Given the description of an element on the screen output the (x, y) to click on. 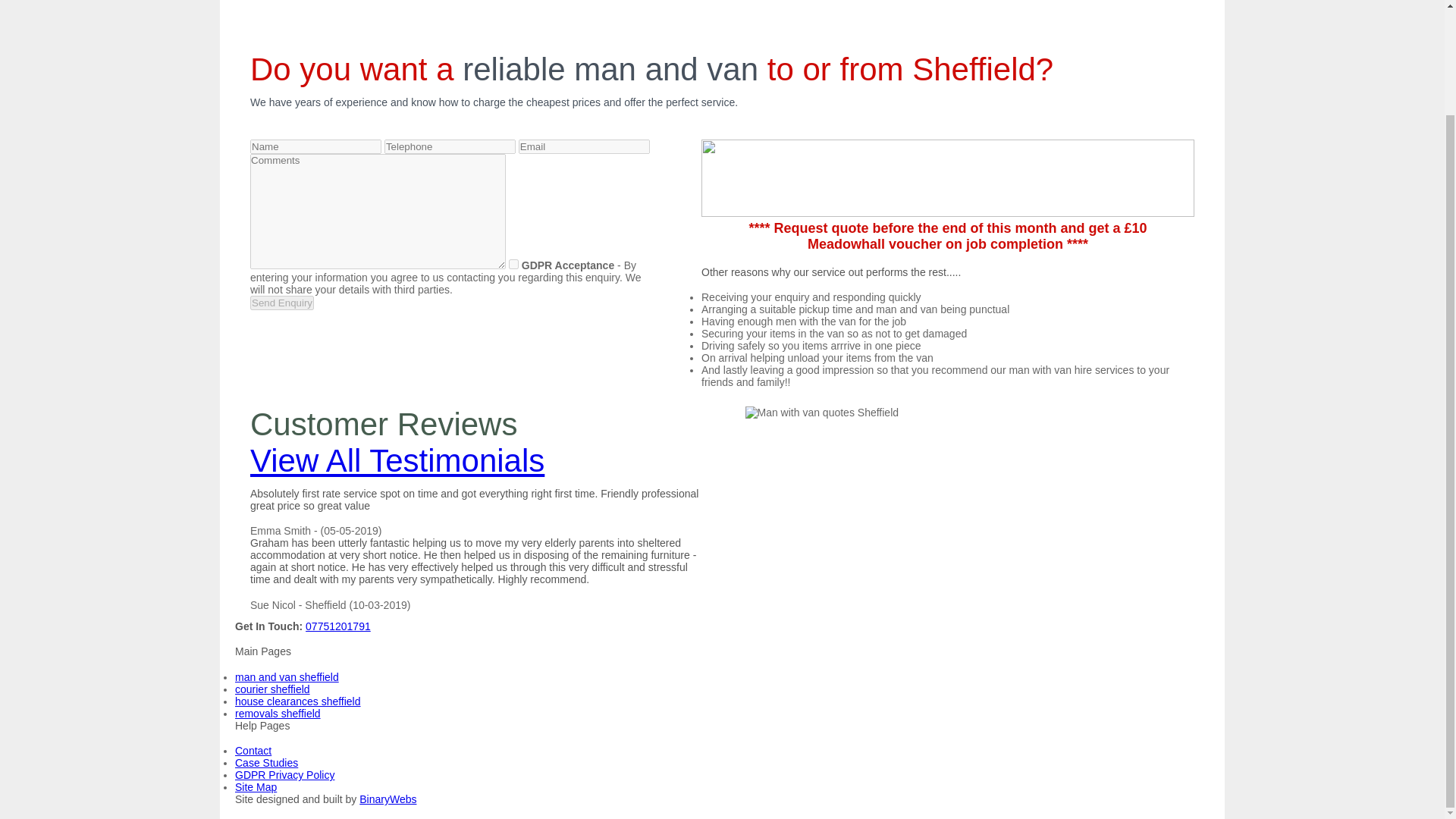
man and van sheffield (286, 676)
Case Studies (266, 762)
courier sheffield (272, 689)
Send Enquiry (282, 302)
courier sheffield (272, 689)
house clearances sheffield (297, 701)
Contact (252, 750)
BinaryWebs (387, 799)
man and van sheffield (286, 676)
removals sheffield (277, 713)
yes (513, 264)
07751201791 (338, 625)
View All Testimonials (397, 460)
Site Map (255, 787)
07751201791 (1155, 0)
